Given the description of an element on the screen output the (x, y) to click on. 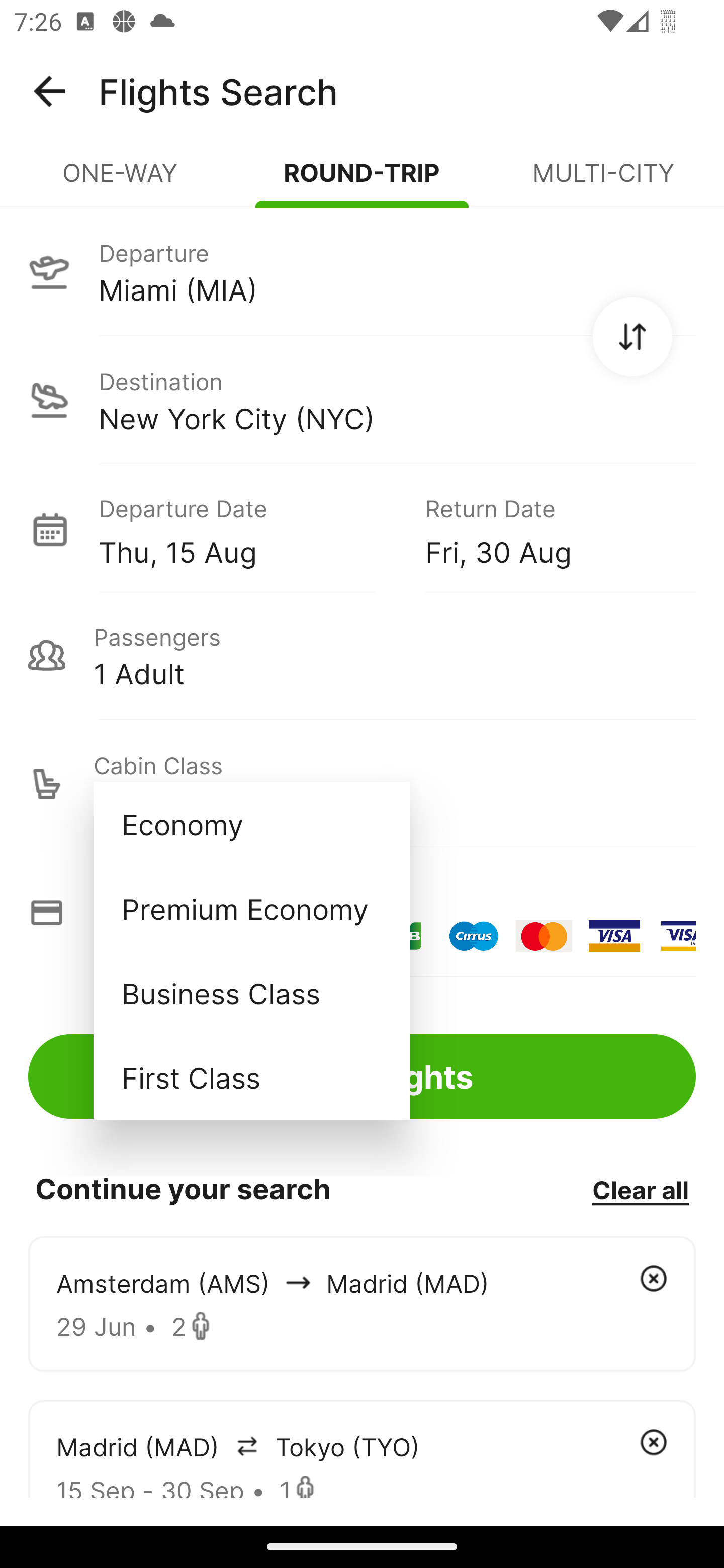
Economy (251, 824)
Premium Economy (251, 908)
Business Class (251, 992)
First Class (251, 1076)
